Given the description of an element on the screen output the (x, y) to click on. 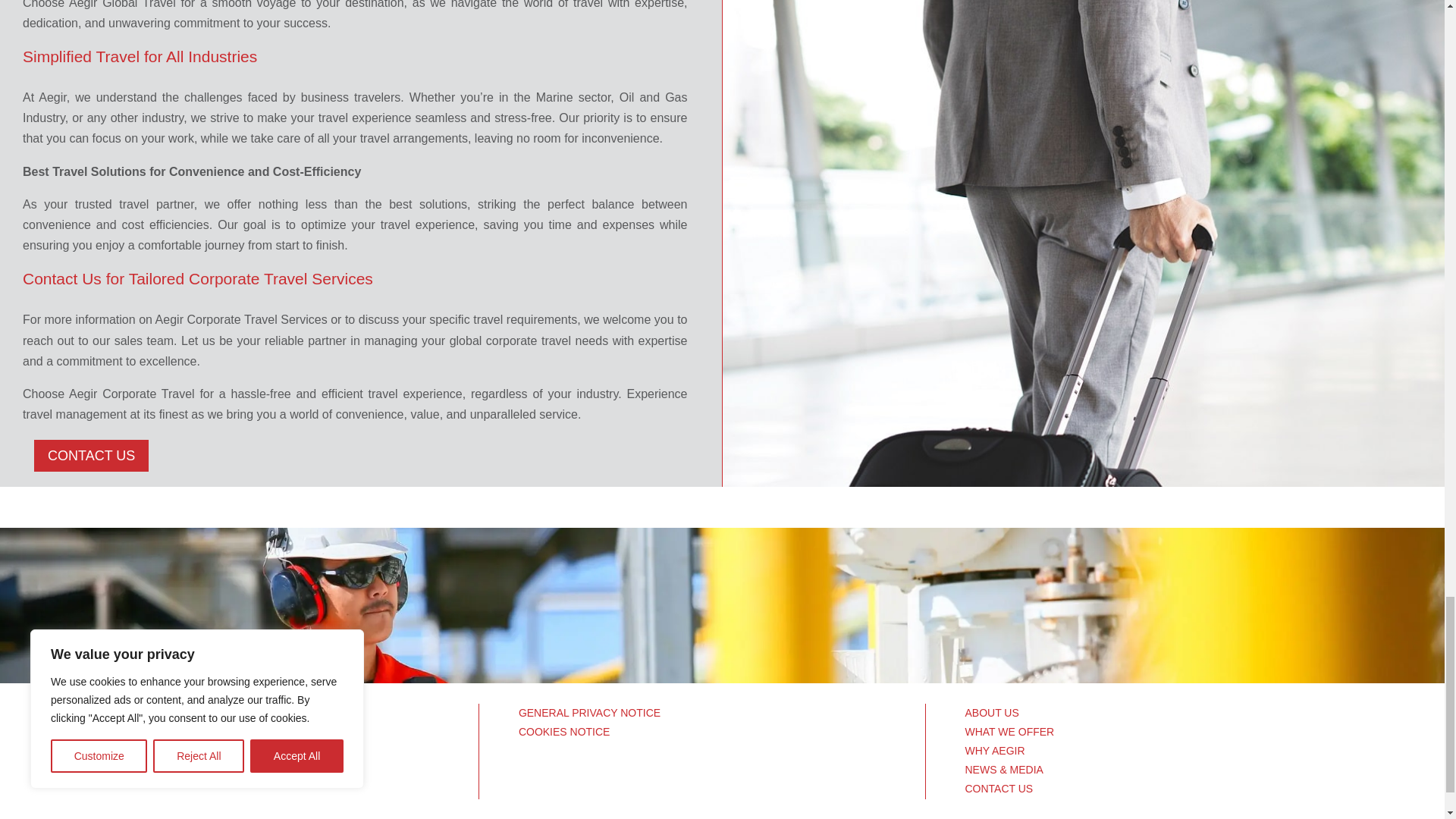
WHY AEGIR (994, 750)
CONTACT US (997, 788)
WHAT WE OFFER (1008, 731)
GENERAL PRIVACY NOTICE (589, 712)
CONTACT US (90, 454)
ABOUT US (990, 712)
about us (275, 742)
COOKIES NOTICE (564, 731)
